Given the description of an element on the screen output the (x, y) to click on. 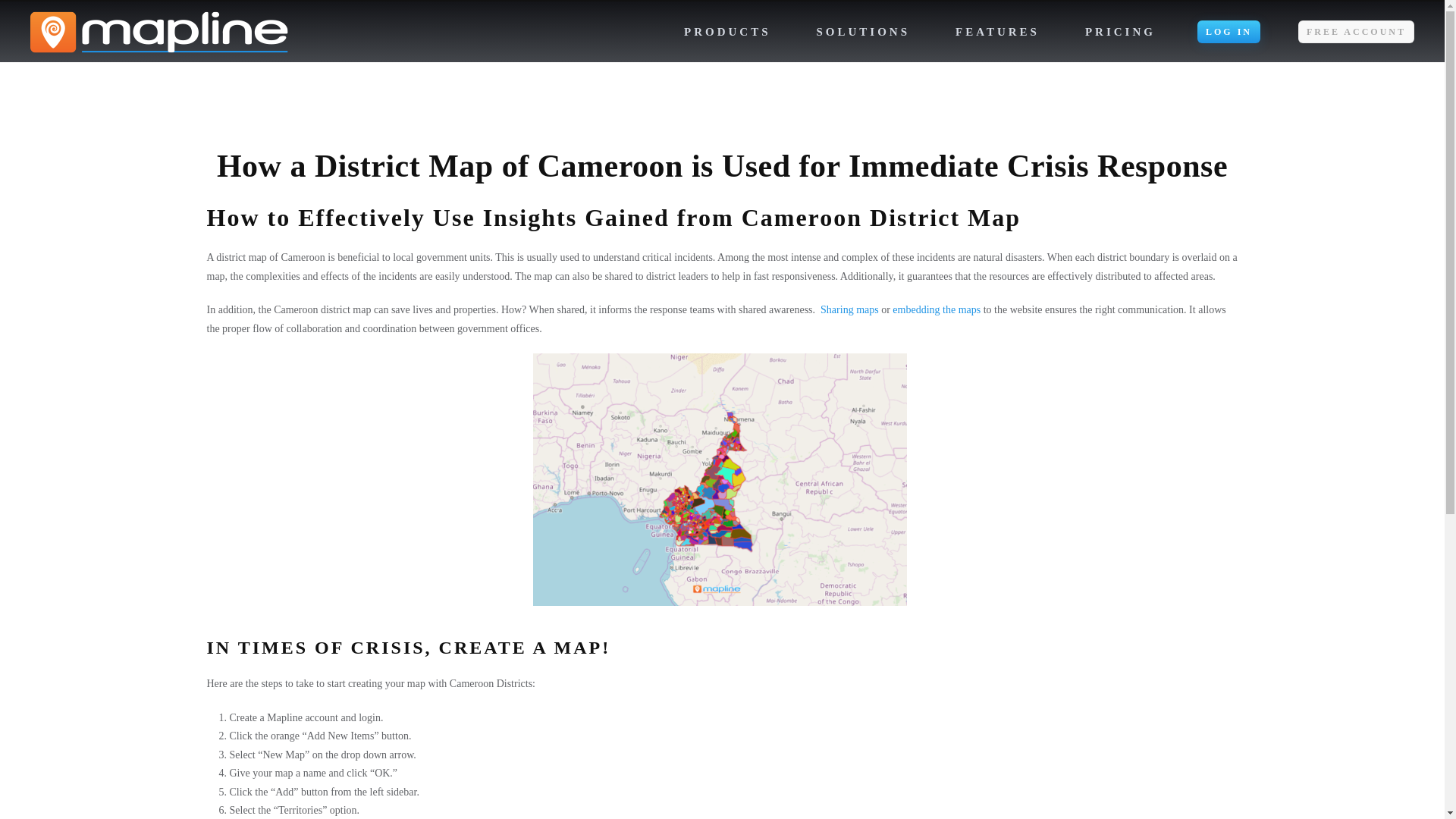
LOG IN (1228, 31)
embedding the maps (935, 309)
PRODUCTS (727, 31)
Sharing maps (850, 309)
PRICING (1120, 31)
SOLUTIONS (863, 31)
FEATURES (997, 31)
FREE ACCOUNT (1355, 31)
